Given the description of an element on the screen output the (x, y) to click on. 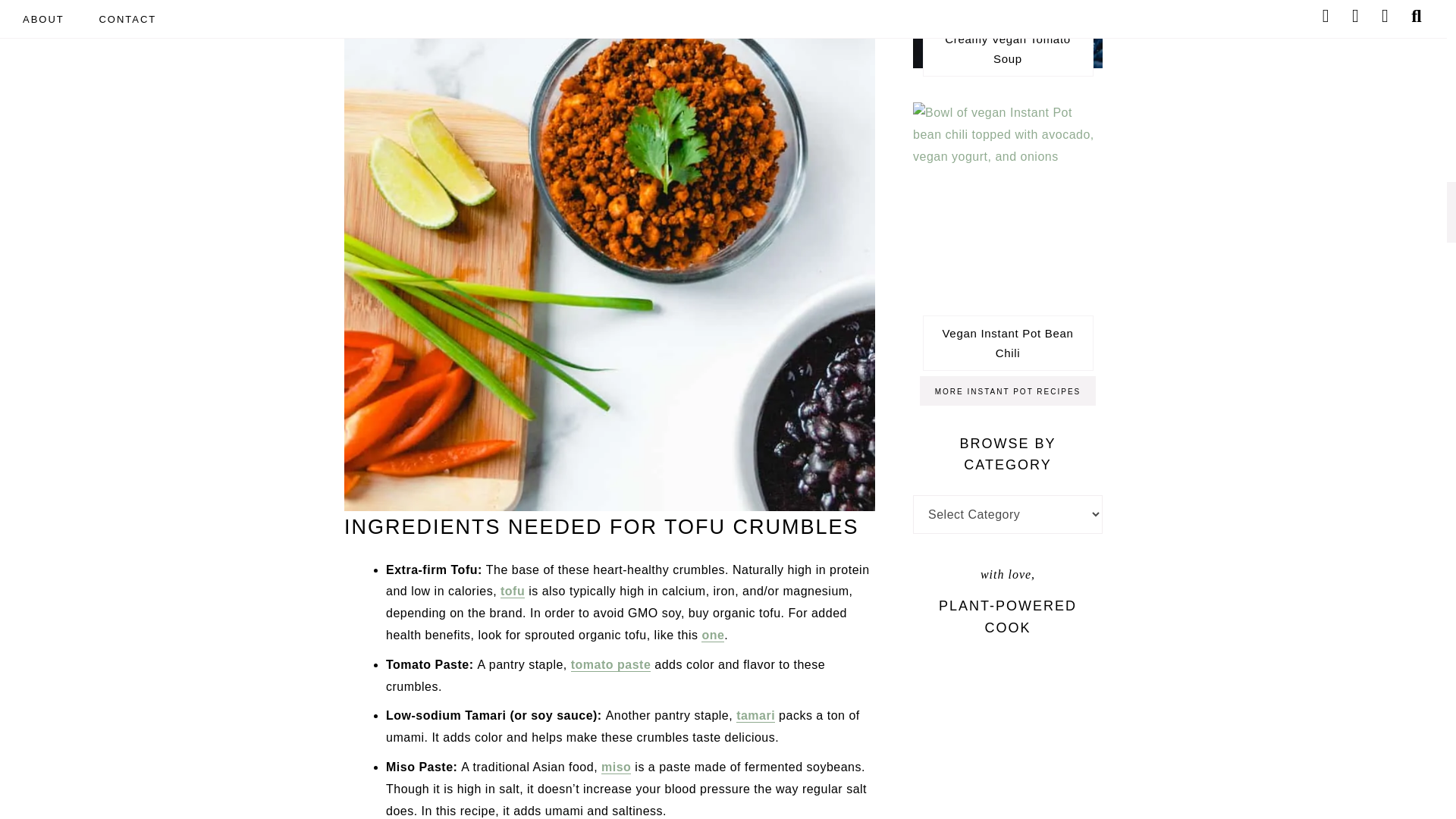
one (712, 635)
miso (615, 766)
tofu (512, 591)
tamari (755, 715)
tomato paste (610, 664)
Instant Pot (1008, 390)
